Given the description of an element on the screen output the (x, y) to click on. 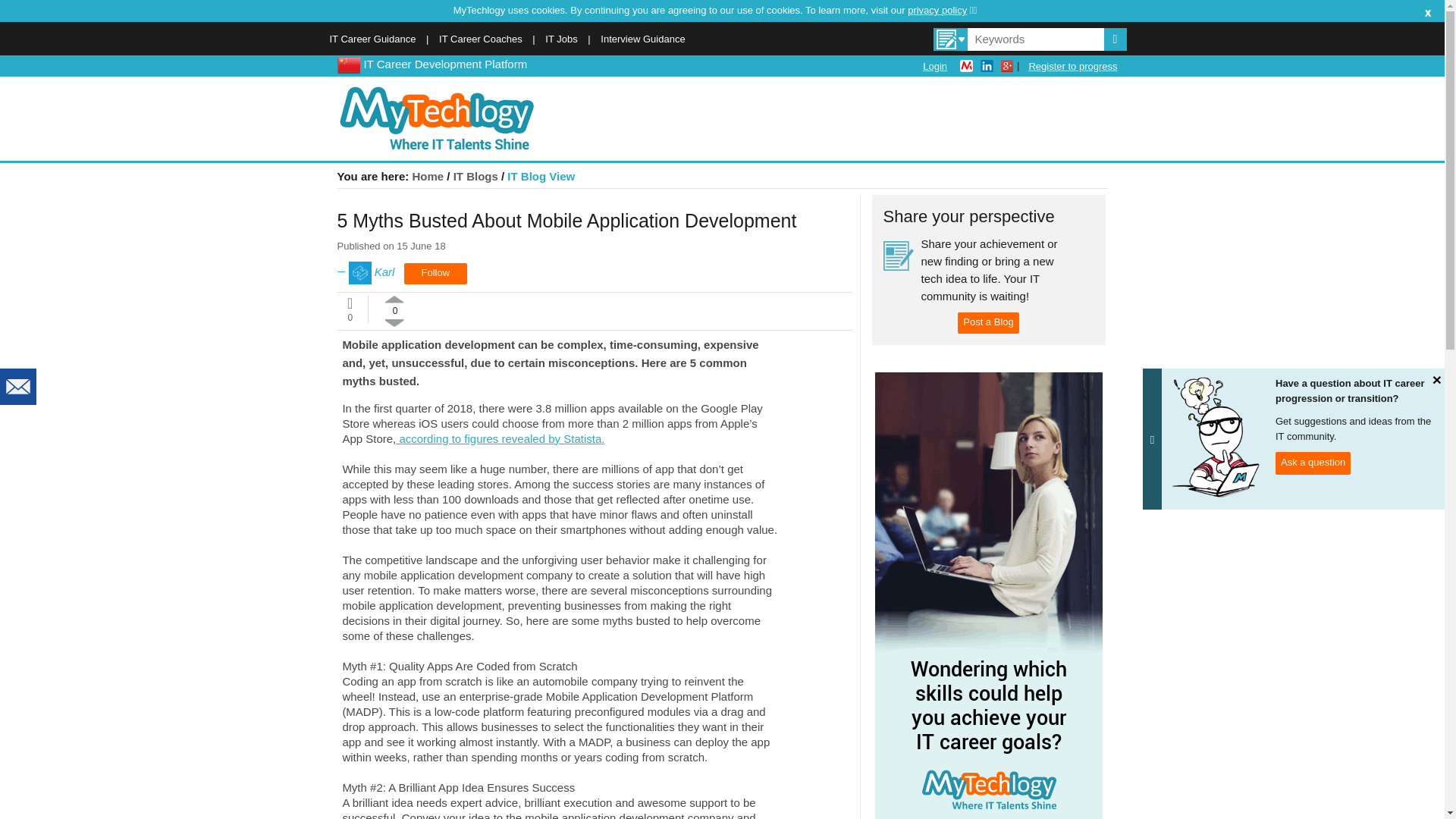
privacy policy  (941, 9)
This post is unclear and not useful (394, 321)
Login (935, 66)
This post is useful (394, 298)
Interview Guidance (641, 39)
Register to progress (1071, 66)
IT Career Guidance (371, 39)
according to figures revealed by Statista. (500, 438)
Follow (435, 273)
IT Jobs (560, 39)
